Given the description of an element on the screen output the (x, y) to click on. 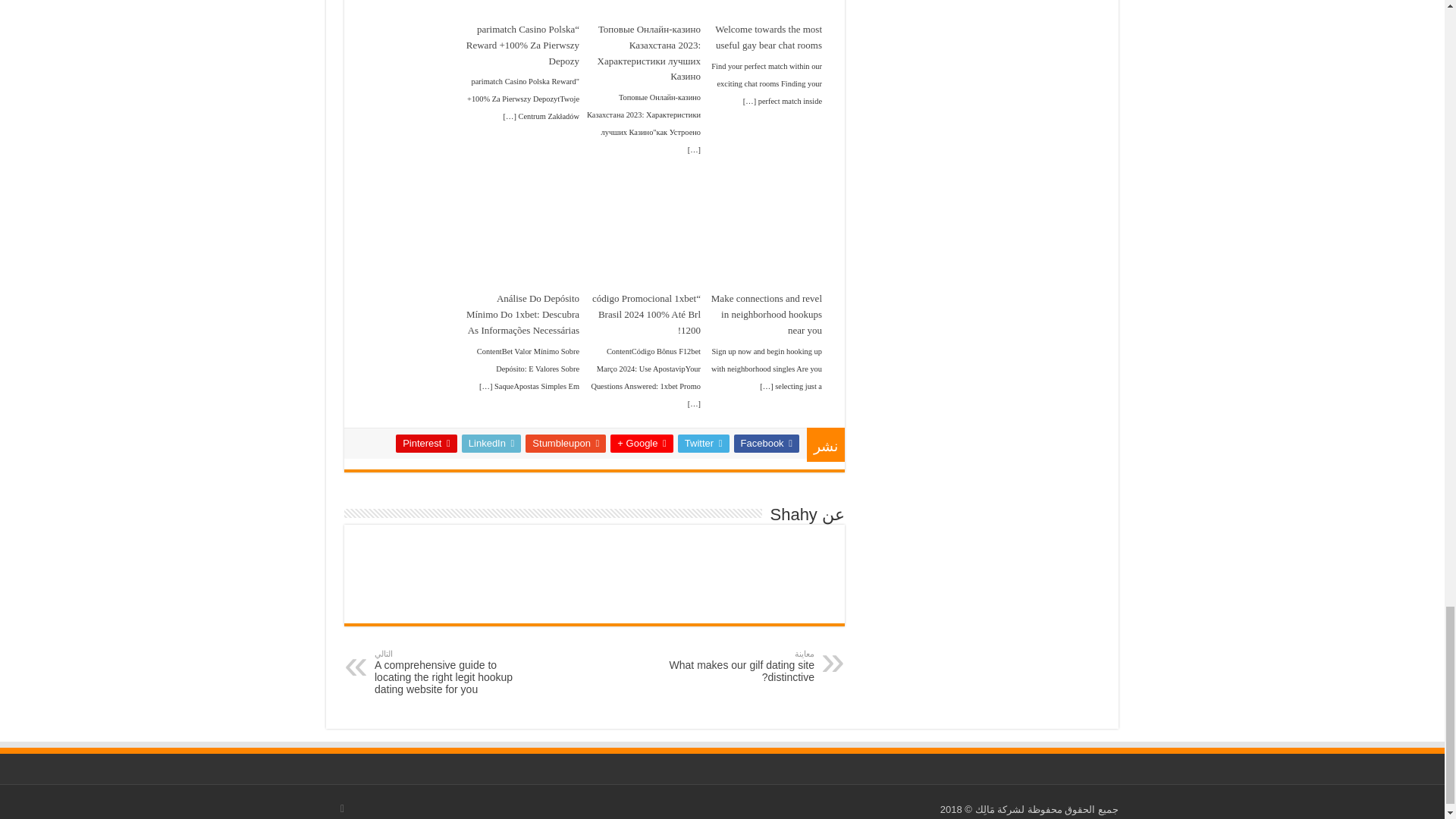
Welcome towards the most useful gay bear chat rooms (764, 38)
